Given the description of an element on the screen output the (x, y) to click on. 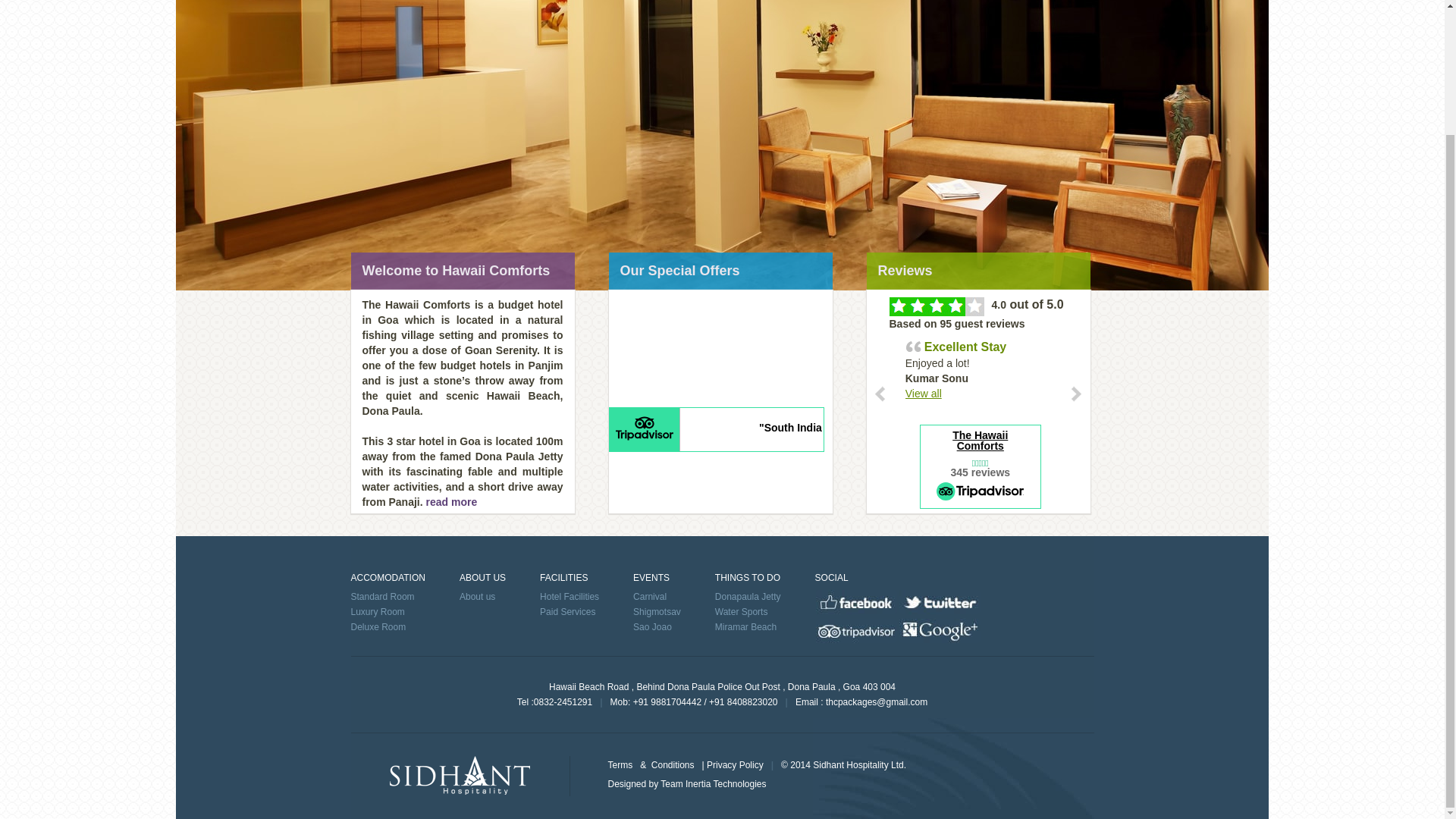
read more (450, 501)
